Given the description of an element on the screen output the (x, y) to click on. 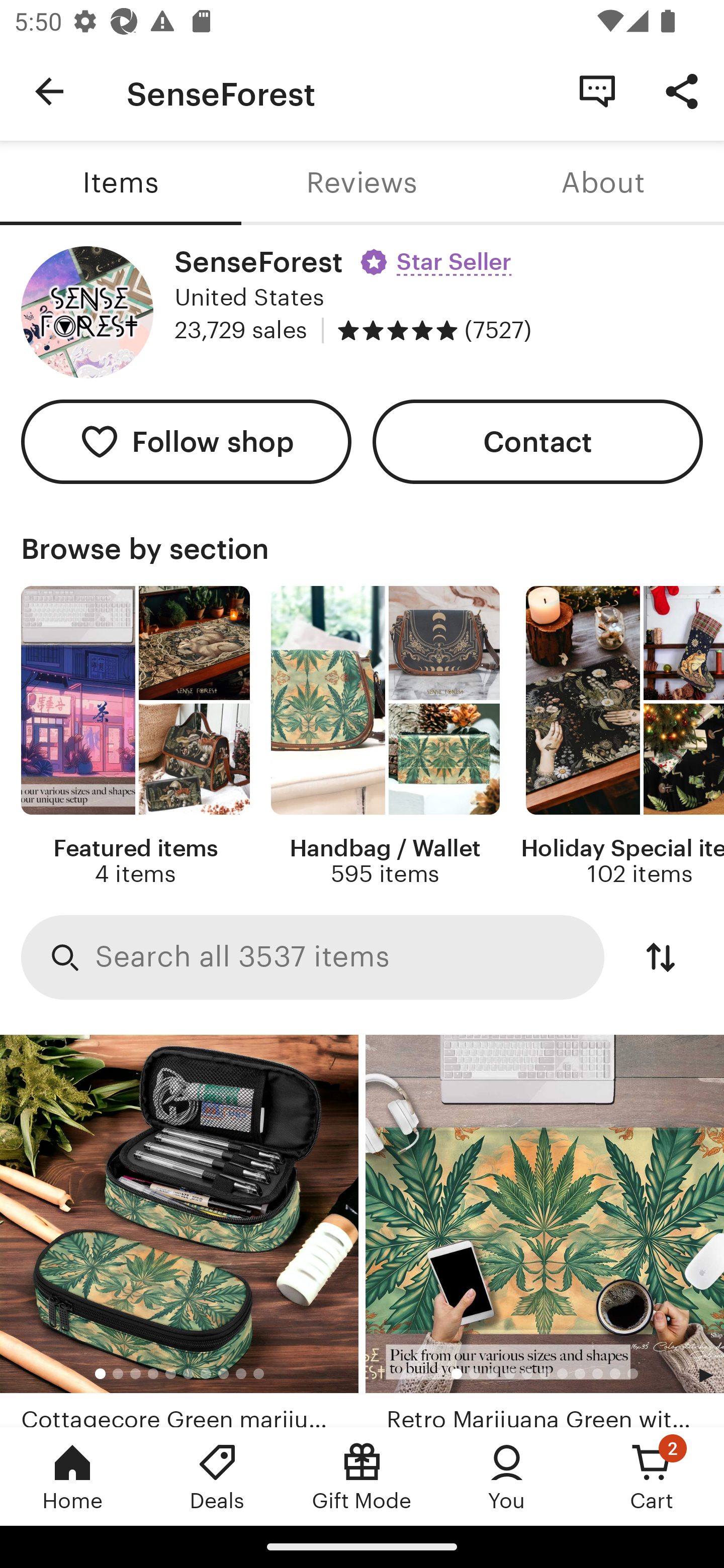
Navigate up (49, 91)
Contact Shop (597, 90)
Share (681, 90)
Reviews (361, 183)
About (603, 183)
Star Seller (438, 255)
Follow shop (185, 441)
Contact (537, 441)
Featured items 4 items (134, 736)
Handbag / Wallet 595 items (384, 736)
Holiday Special items 102 items (622, 736)
Search Search all 3537 items (312, 957)
Deals (216, 1475)
Gift Mode (361, 1475)
You (506, 1475)
Cart, 2 new notifications Cart (651, 1475)
